Given the description of an element on the screen output the (x, y) to click on. 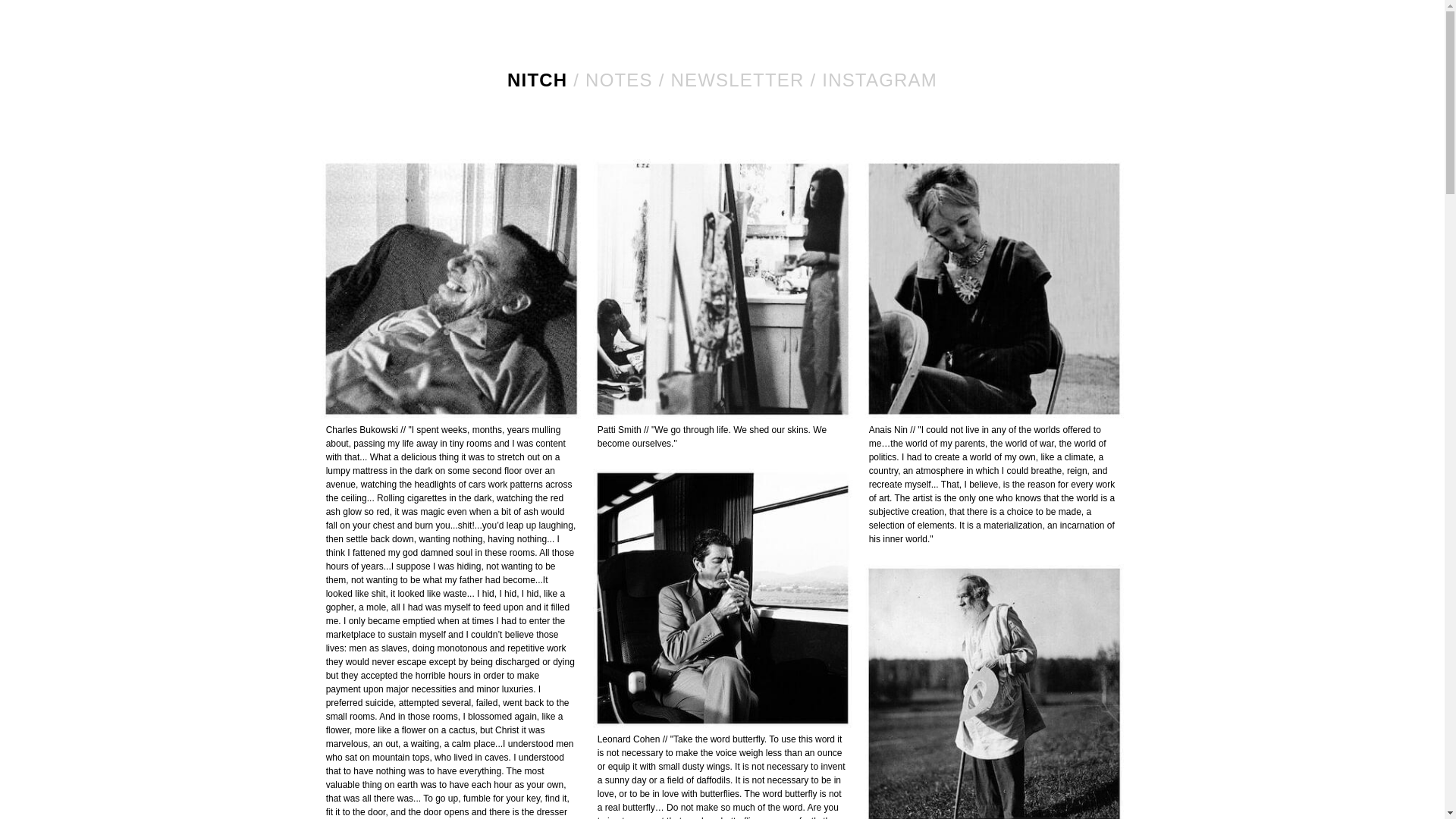
NOTES (618, 79)
NITCH (536, 79)
NEWSLETTER (738, 79)
INSTAGRAM (879, 79)
